Given the description of an element on the screen output the (x, y) to click on. 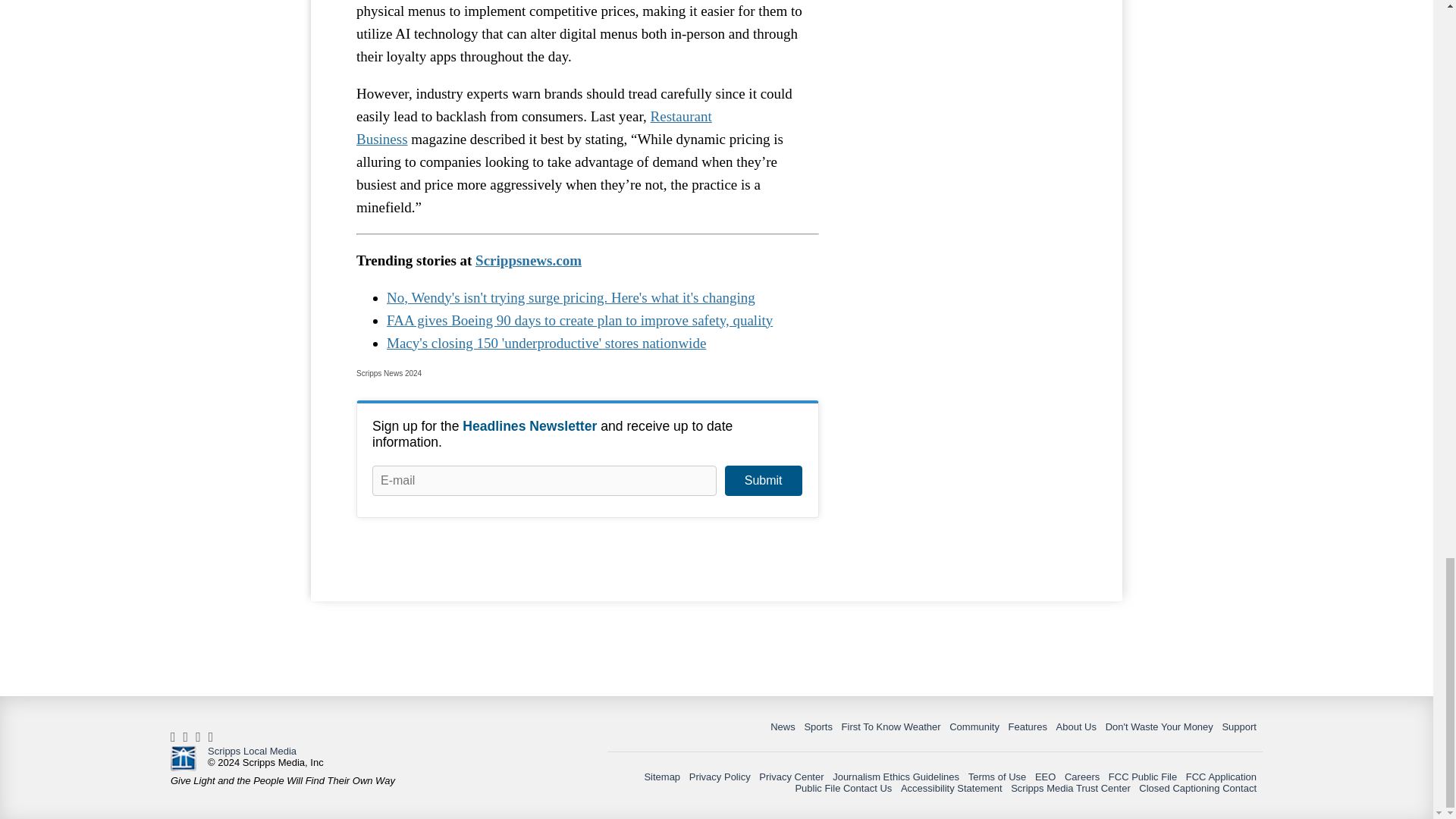
Submit (763, 481)
